Given the description of an element on the screen output the (x, y) to click on. 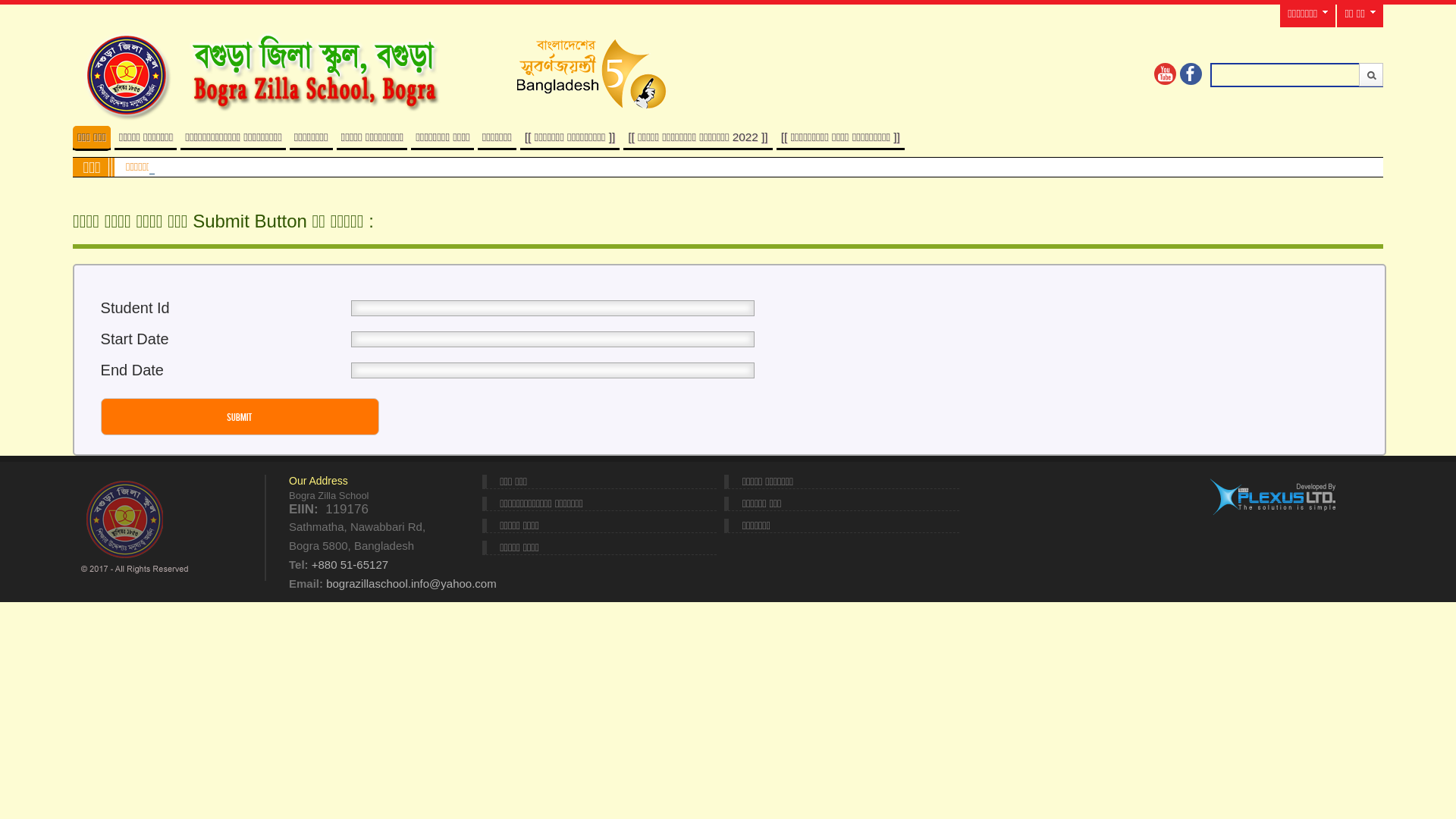
+880 51-65127 Element type: text (349, 564)
Submit Element type: text (239, 416)
Submit Element type: text (1370, 74)
bograzillaschool.info@yahoo.com Element type: text (411, 583)
